Given the description of an element on the screen output the (x, y) to click on. 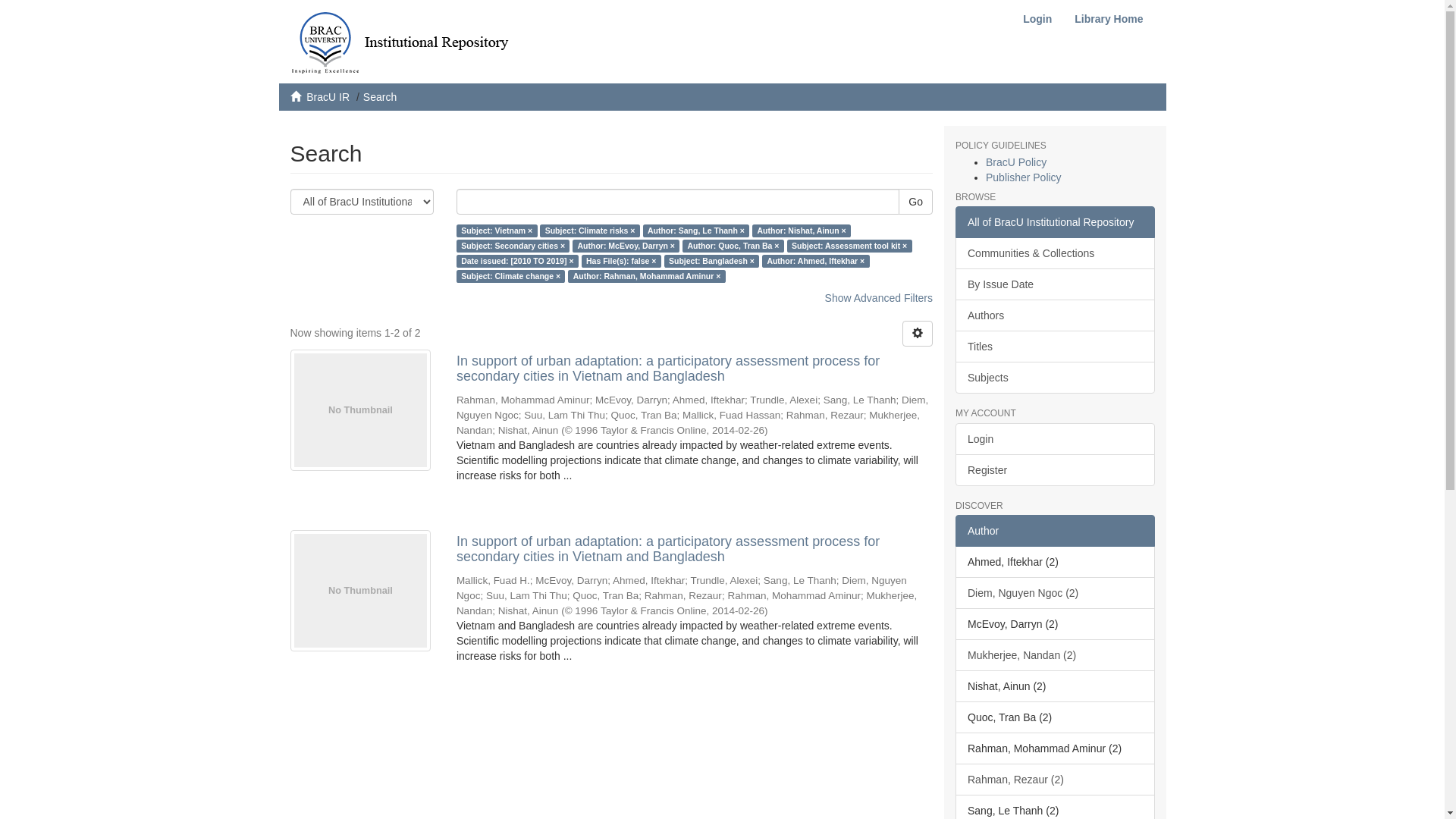
Authors Element type: text (1054, 315)
Communities & Collections Element type: text (1054, 253)
All of BracU Institutional Repository Element type: text (1054, 222)
By Issue Date Element type: text (1054, 284)
Titles Element type: text (1054, 346)
Go Element type: text (915, 201)
Publisher Policy Element type: text (1023, 177)
Login Element type: text (1054, 439)
Diem, Nguyen Ngoc (2) Element type: text (1054, 592)
Author Element type: text (1054, 530)
Mukherjee, Nandan (2) Element type: text (1054, 655)
BracU IR Element type: text (327, 97)
BracU Policy Element type: text (1015, 162)
Library Home Element type: text (1108, 18)
Show Advanced Filters Element type: text (878, 297)
Login Element type: text (1037, 18)
Rahman, Rezaur (2) Element type: text (1054, 779)
Register Element type: text (1054, 470)
Subjects Element type: text (1054, 377)
